Given the description of an element on the screen output the (x, y) to click on. 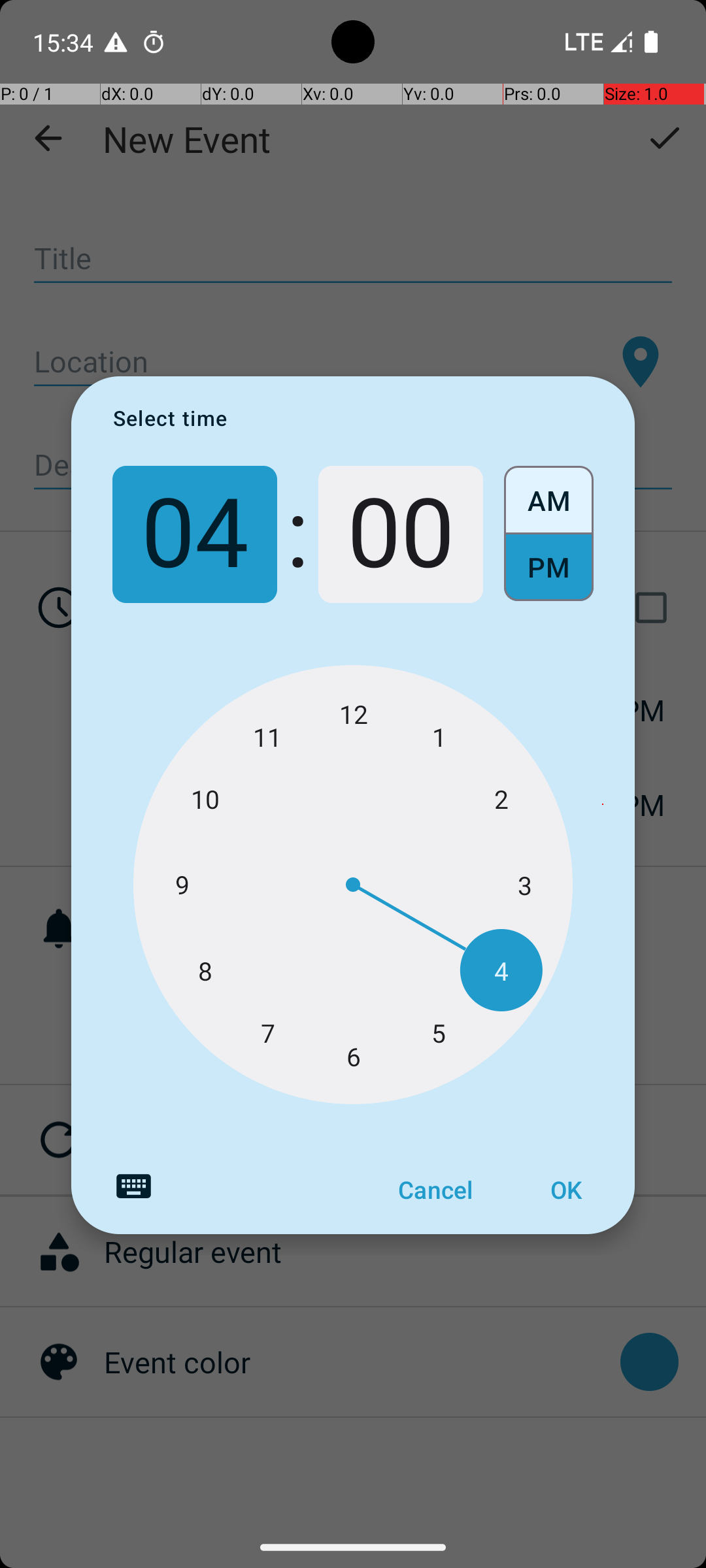
04 Element type: android.view.View (194, 534)
Select AM or PM Element type: android.widget.LinearLayout (548, 534)
